Given the description of an element on the screen output the (x, y) to click on. 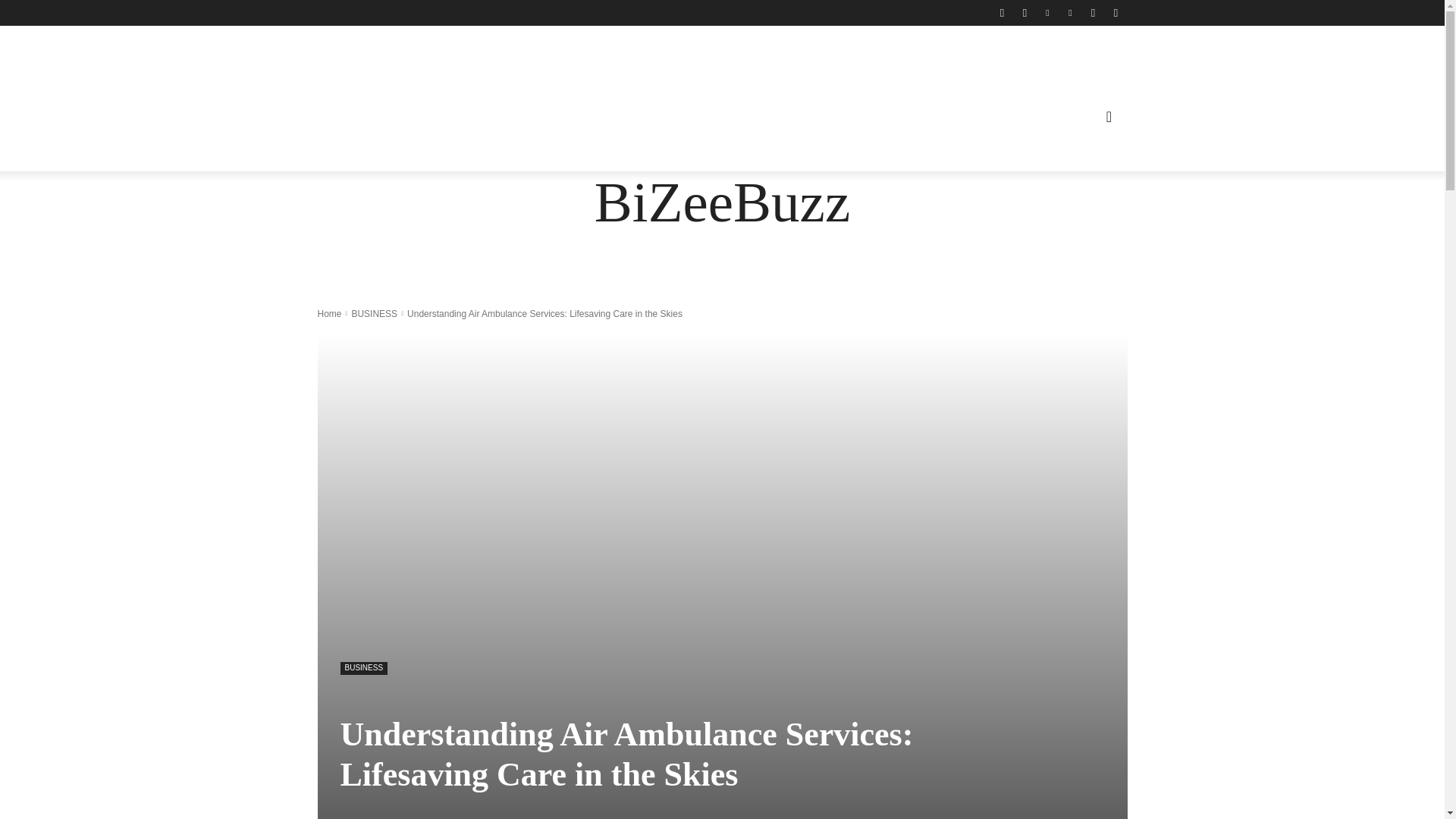
Instagram (1024, 12)
Tumblr (1092, 12)
Pinterest (1069, 12)
Facebook (1001, 12)
Linkedin (1046, 12)
